Given the description of an element on the screen output the (x, y) to click on. 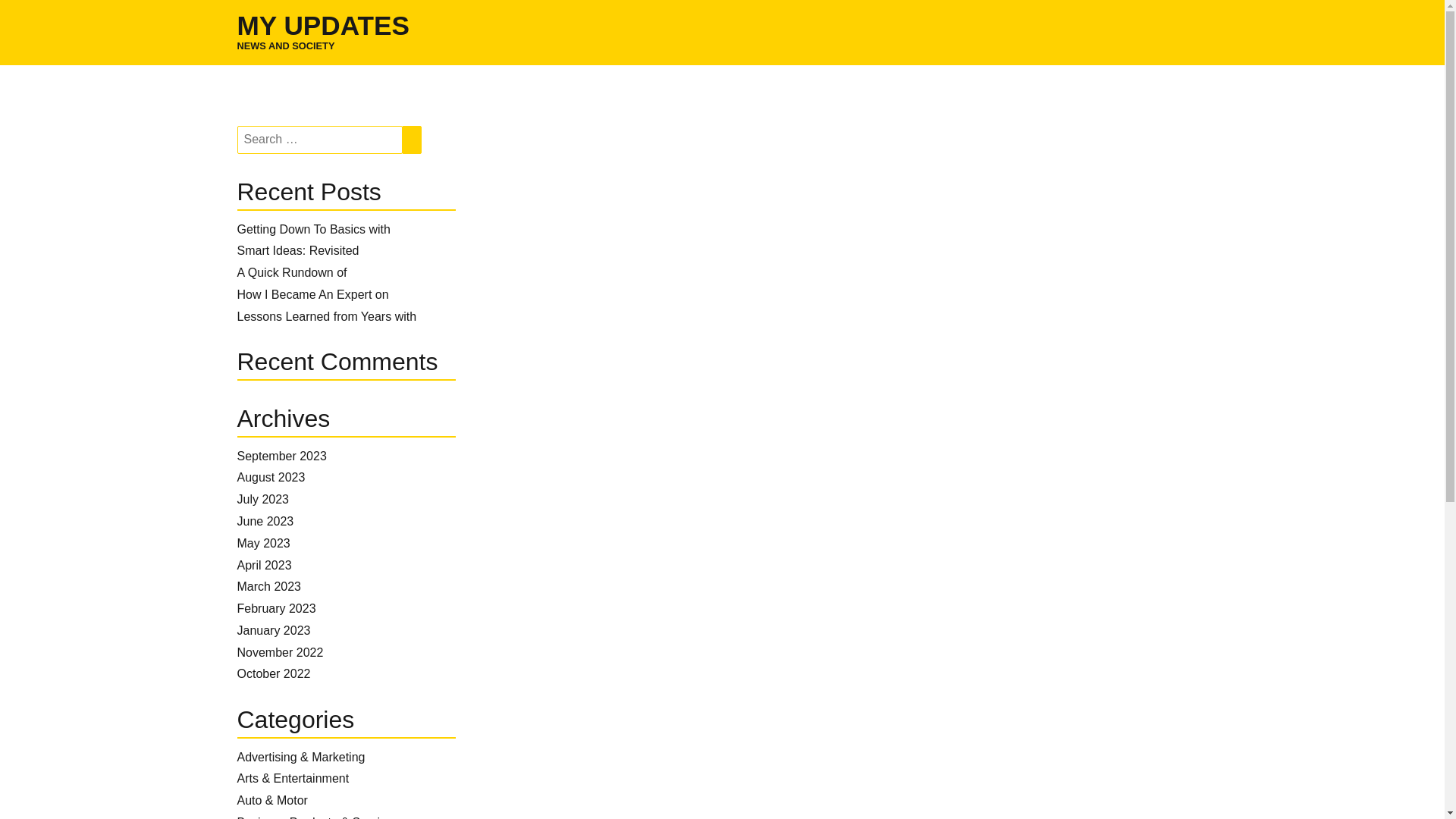
MY UPDATES (322, 25)
How I Became An Expert on (311, 294)
June 2023 (264, 521)
November 2022 (279, 652)
Smart Ideas: Revisited (296, 250)
April 2023 (263, 564)
October 2022 (272, 673)
A Quick Rundown of (290, 272)
August 2023 (269, 477)
Search for: (318, 139)
September 2023 (280, 455)
February 2023 (275, 608)
Getting Down To Basics with (312, 228)
July 2023 (261, 499)
Lessons Learned from Years with (325, 316)
